Given the description of an element on the screen output the (x, y) to click on. 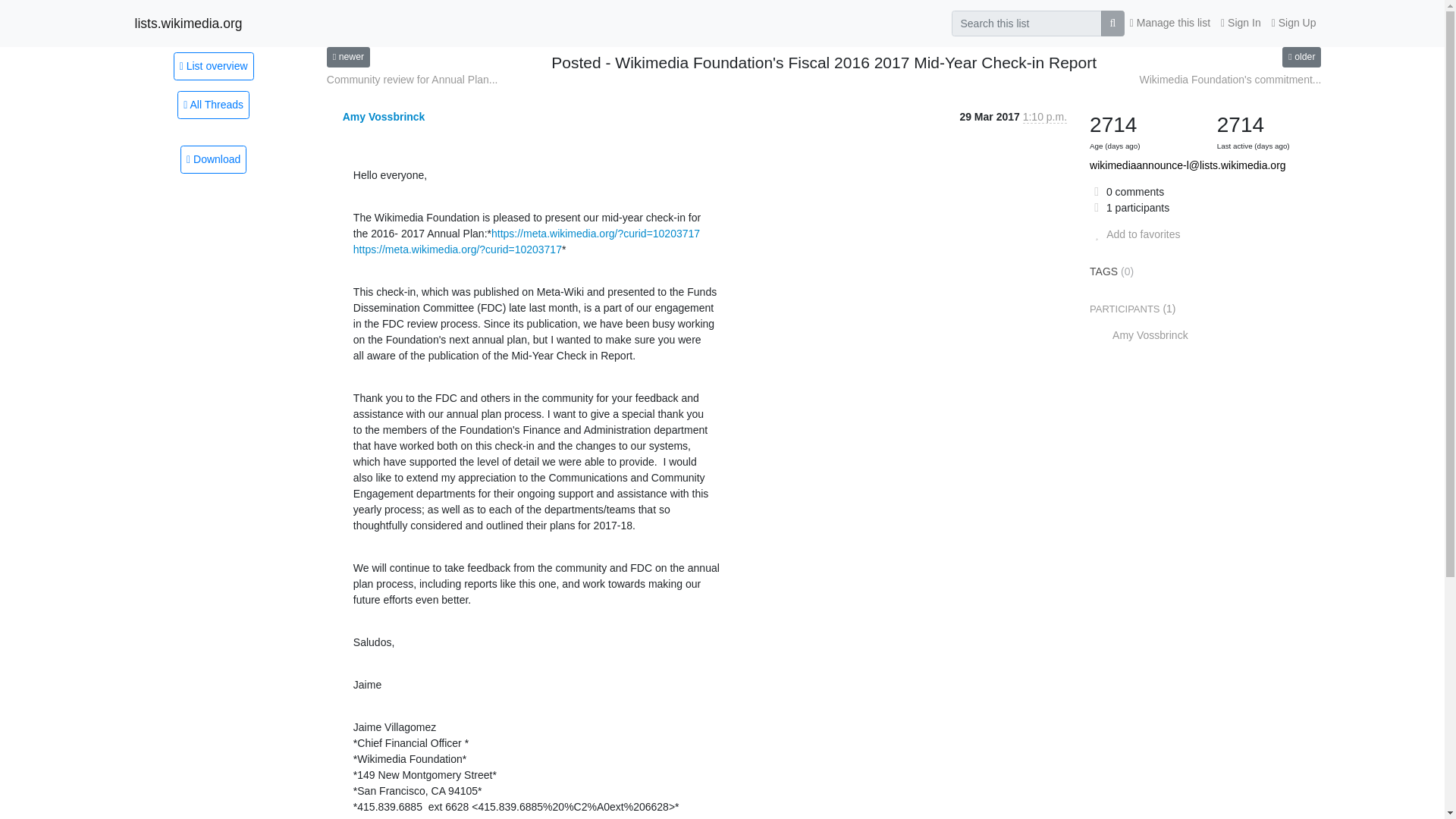
older (1301, 56)
newer (347, 56)
All Threads (212, 104)
This thread in gzipped mbox format (213, 159)
List overview (213, 65)
Manage this list (1169, 22)
Community review for Annual Plan... (411, 79)
Sign Up (1294, 22)
Wikimedia Foundation's commitment... (1229, 79)
